Given the description of an element on the screen output the (x, y) to click on. 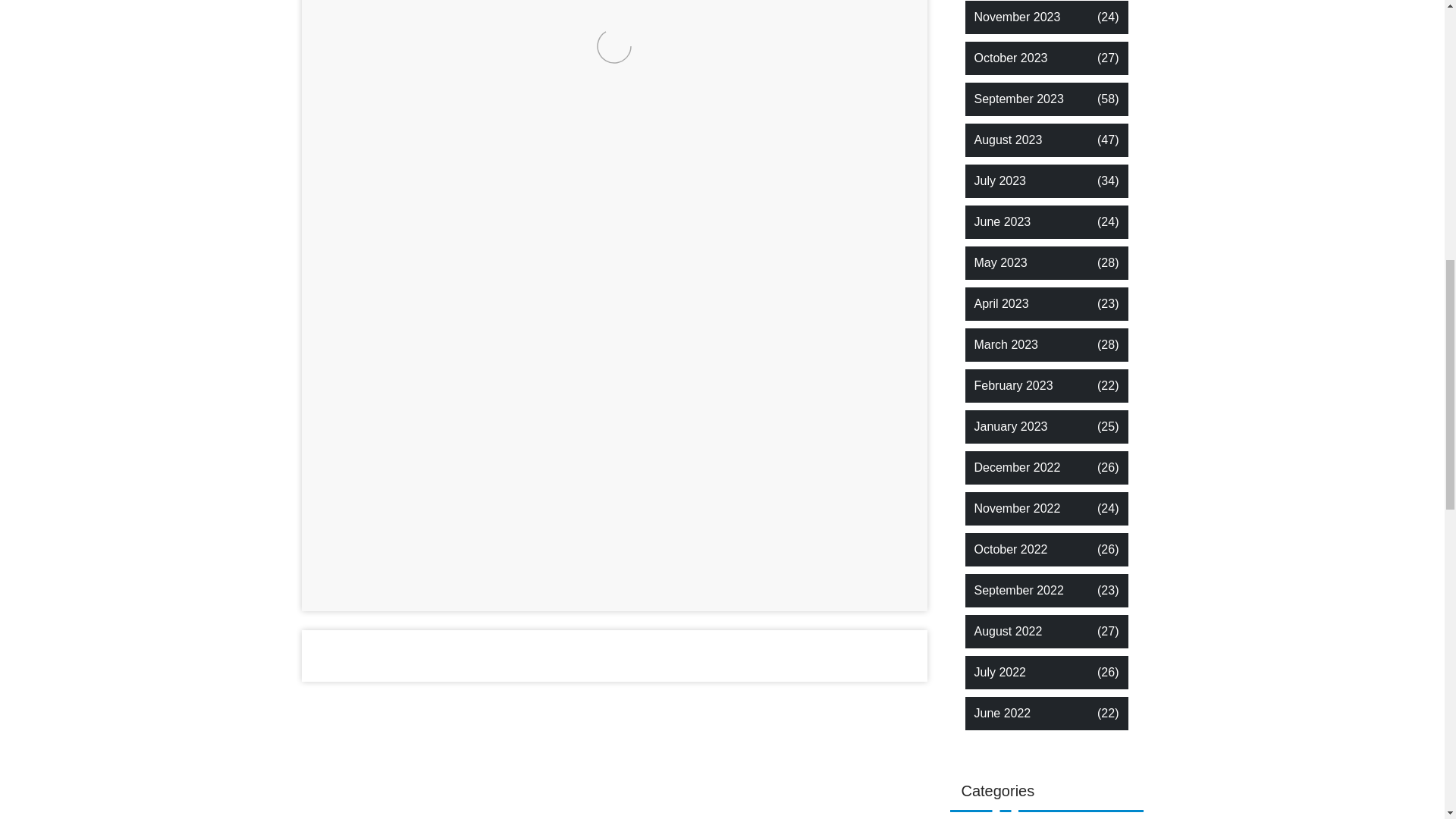
Gambling (675, 589)
5 Nov, 2022 (364, 589)
March 2023 (1006, 344)
September 2023 (1018, 99)
admin (595, 589)
July 2023 (1000, 180)
June 2023 (1002, 221)
April 2023 (1000, 303)
October 2022 (1010, 549)
February 2023 (1013, 385)
